Given the description of an element on the screen output the (x, y) to click on. 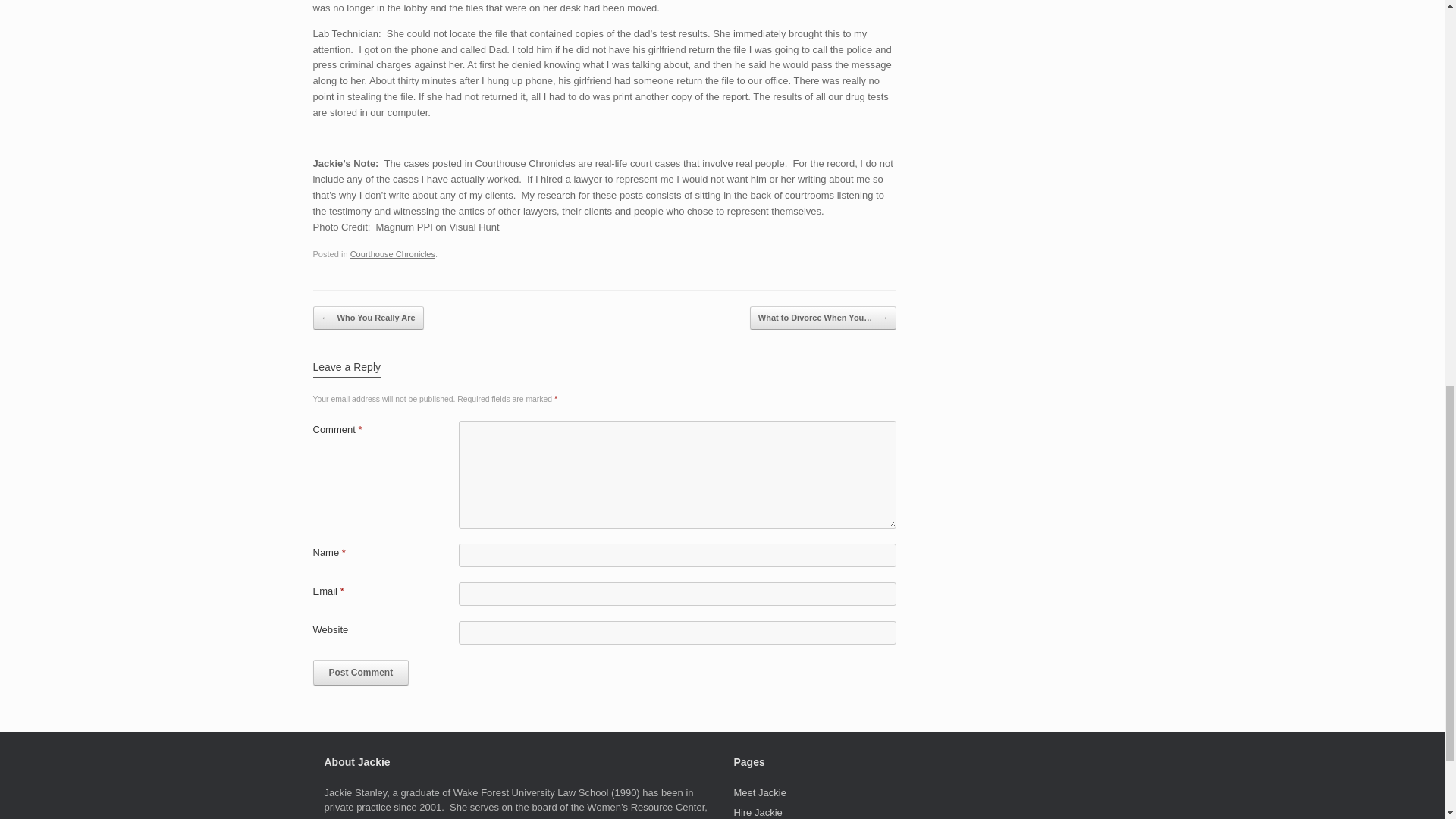
Courthouse Chronicles (392, 253)
Post Comment (361, 672)
Hire Jackie (758, 812)
Post Comment (361, 672)
Meet Jackie (759, 792)
